Given the description of an element on the screen output the (x, y) to click on. 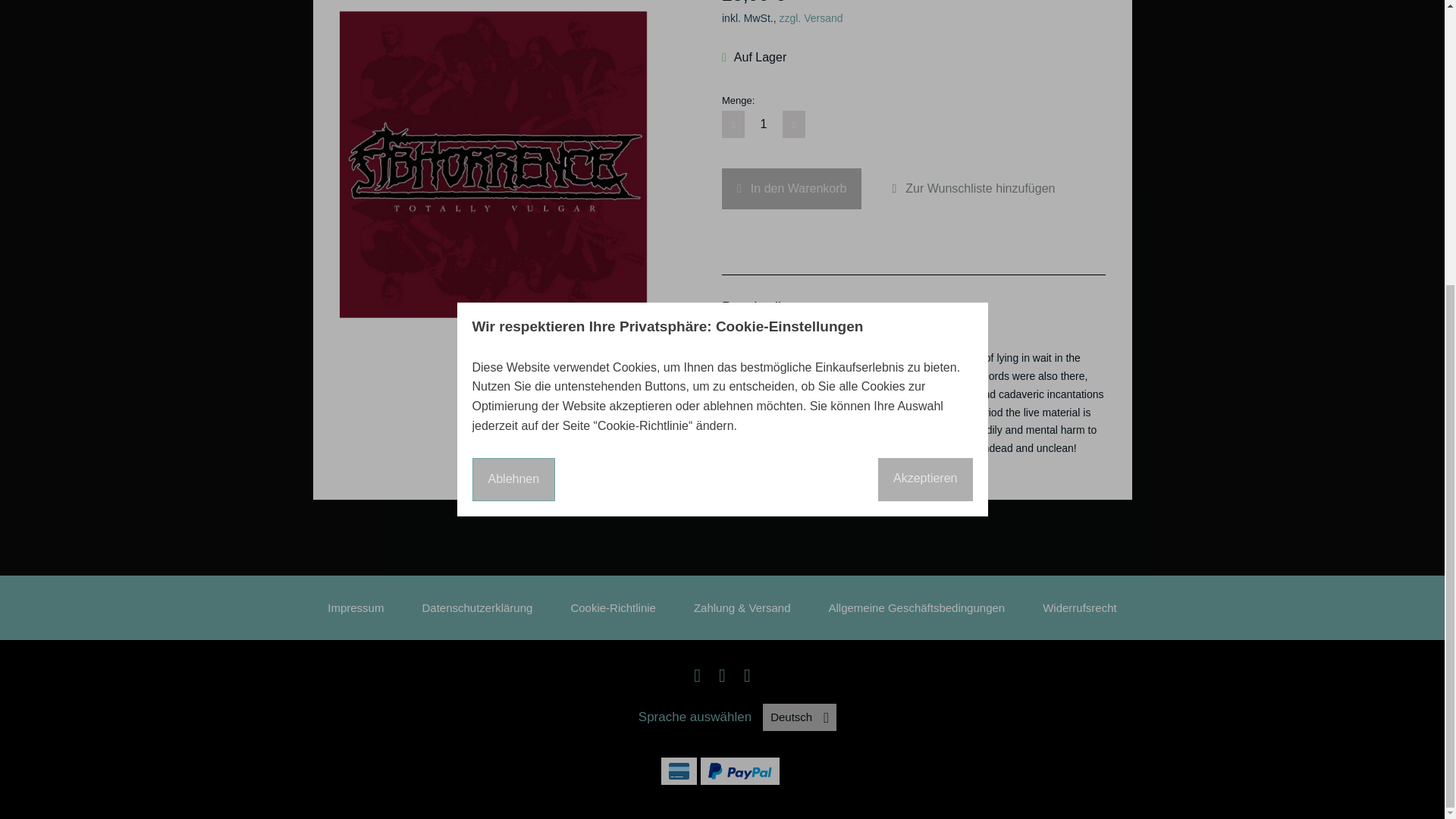
Vorkasse (679, 770)
Cookie-Richtlinie (613, 607)
Impressum (355, 607)
Widerrufsrecht (1079, 607)
1 (763, 124)
zzgl. Versand (810, 18)
PayPal (739, 770)
In den Warenkorb (791, 188)
